Given the description of an element on the screen output the (x, y) to click on. 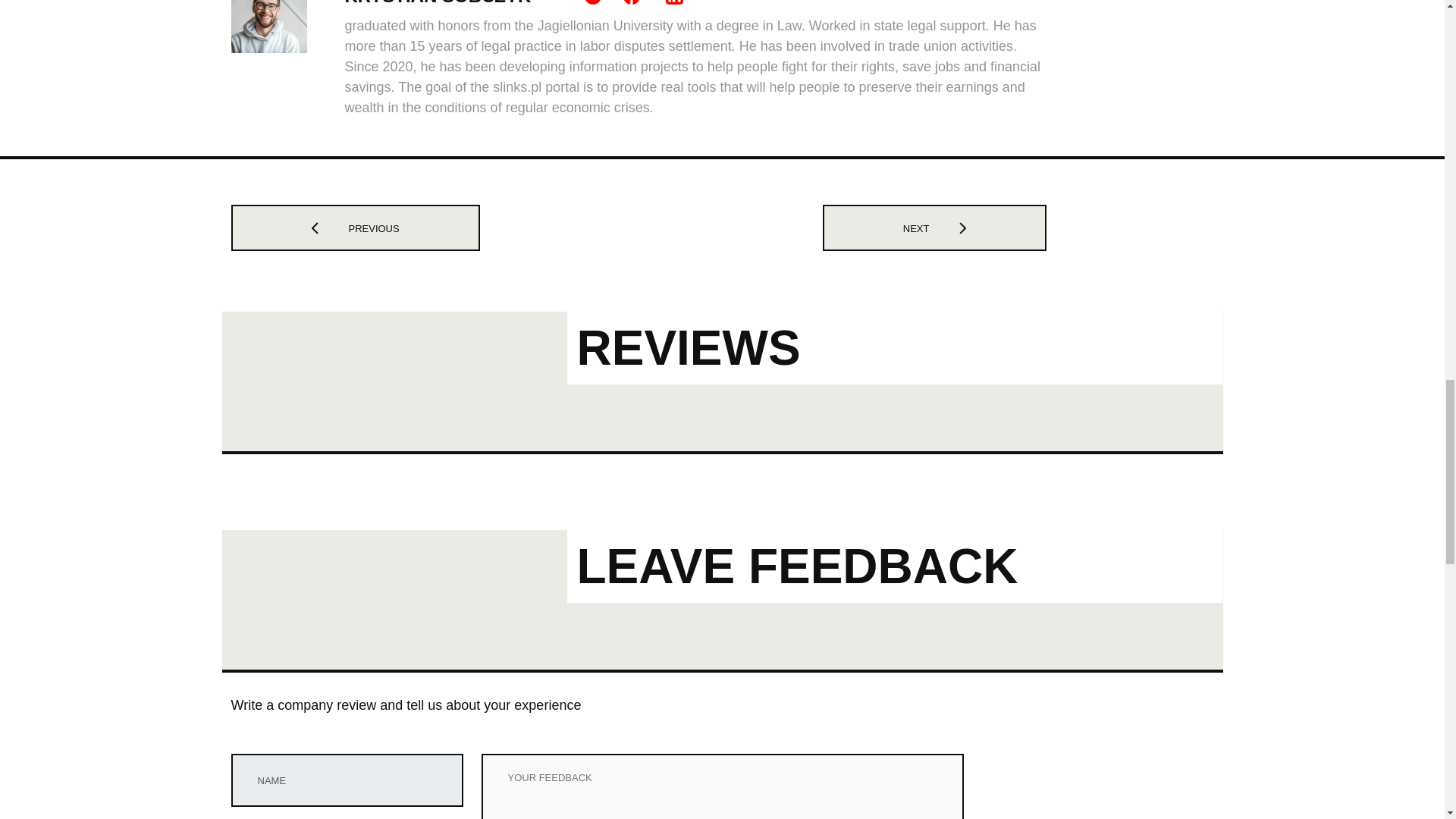
prev (329, 227)
Telegram (594, 0)
Linkedin (673, 2)
Facebook (633, 0)
PREVIOUS (354, 227)
next (947, 227)
author-image (267, 26)
Telegram (592, 2)
NEXT (934, 227)
